Given the description of an element on the screen output the (x, y) to click on. 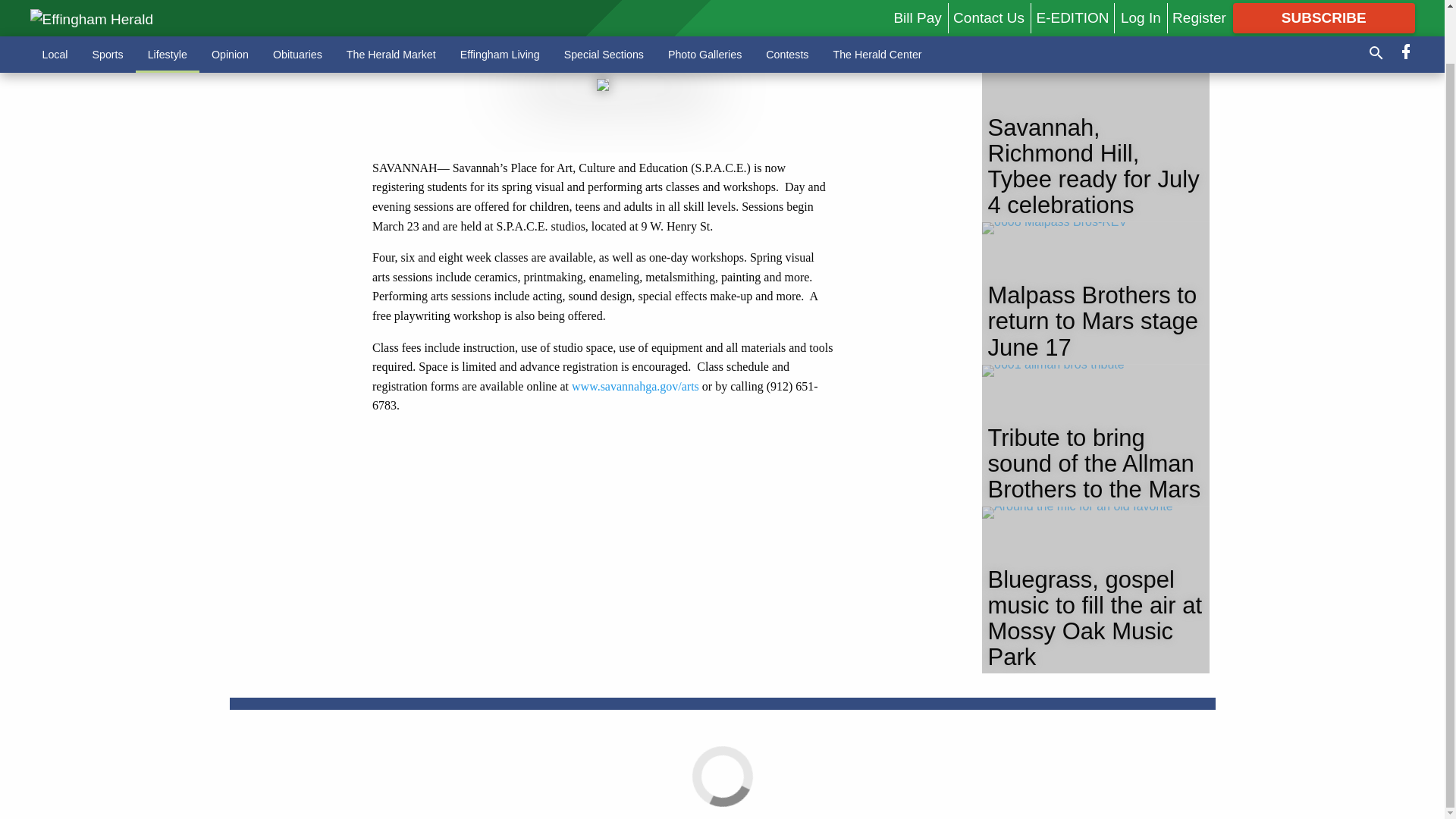
Savannah Arts (635, 386)
Local (55, 6)
Opinion (229, 6)
Sports (107, 6)
Lifestyle (167, 6)
Obituaries (297, 6)
